Given the description of an element on the screen output the (x, y) to click on. 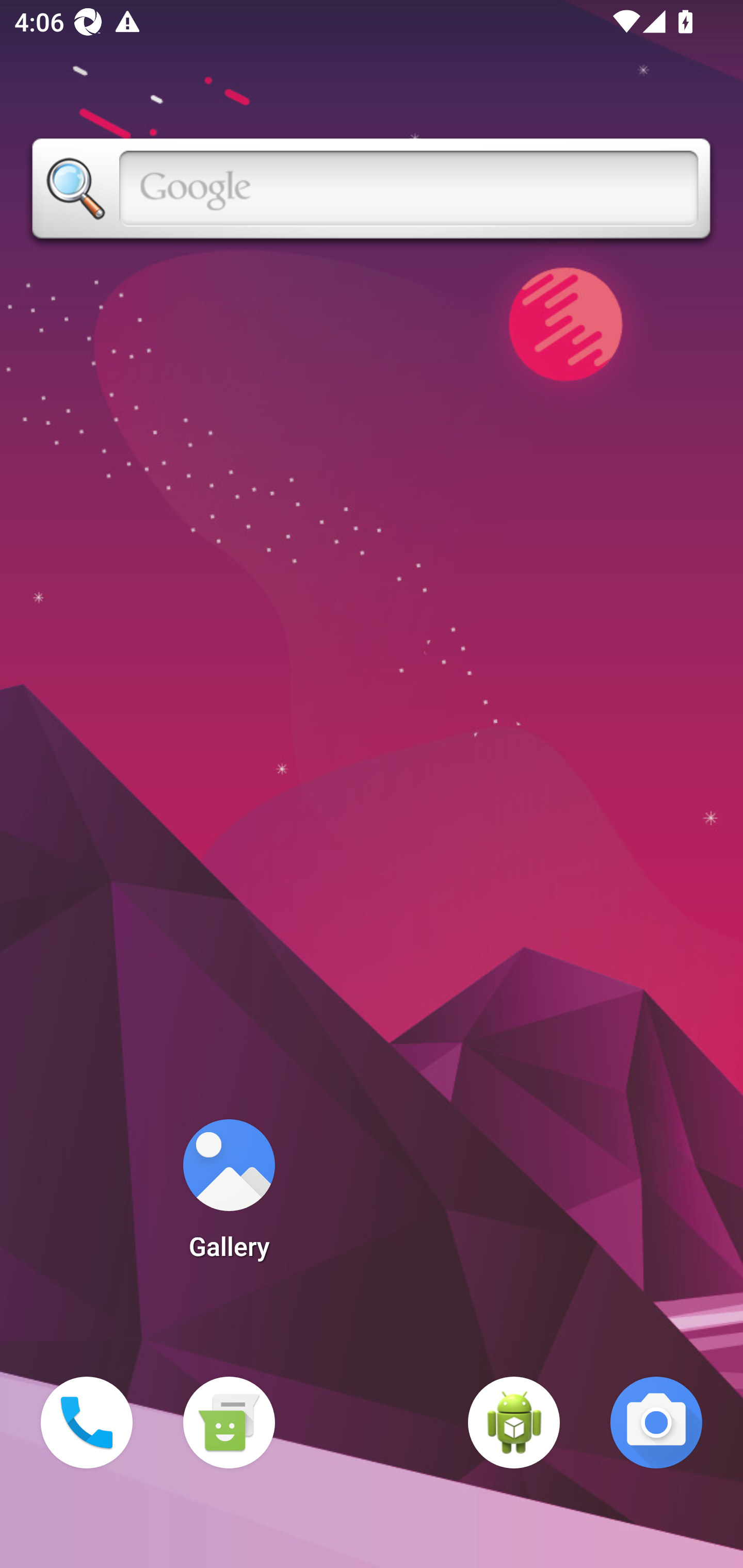
Gallery (228, 1195)
Phone (86, 1422)
Messaging (228, 1422)
WebView Browser Tester (513, 1422)
Camera (656, 1422)
